Given the description of an element on the screen output the (x, y) to click on. 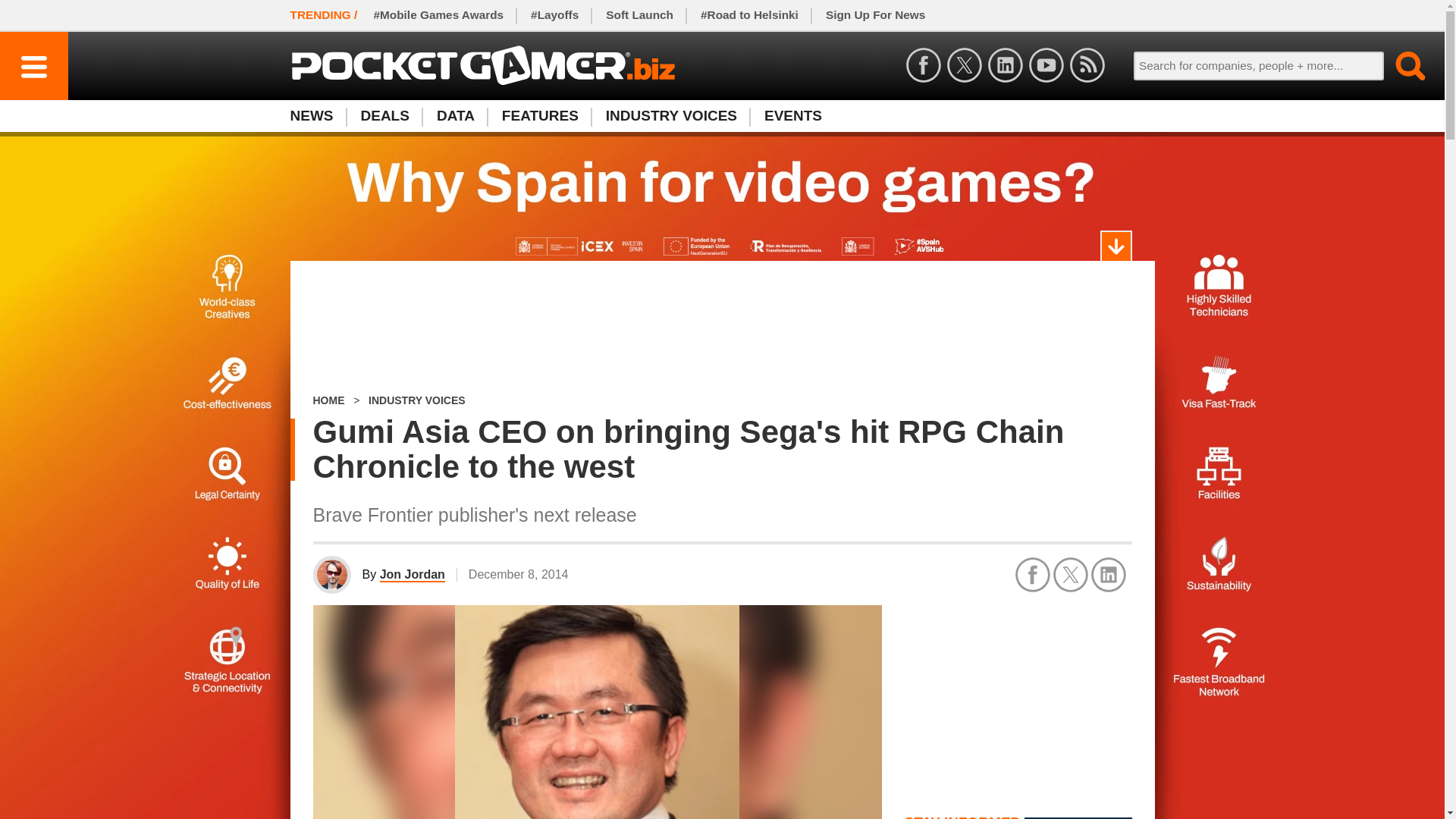
Jon Jordan (412, 575)
FEATURES (539, 115)
INDUSTRY VOICES (671, 115)
DATA (455, 115)
Go (1402, 65)
Go (1402, 65)
3rd party ad content (1017, 699)
Sign Up For News (875, 15)
NEWS (317, 115)
Soft Launch (639, 15)
